Given the description of an element on the screen output the (x, y) to click on. 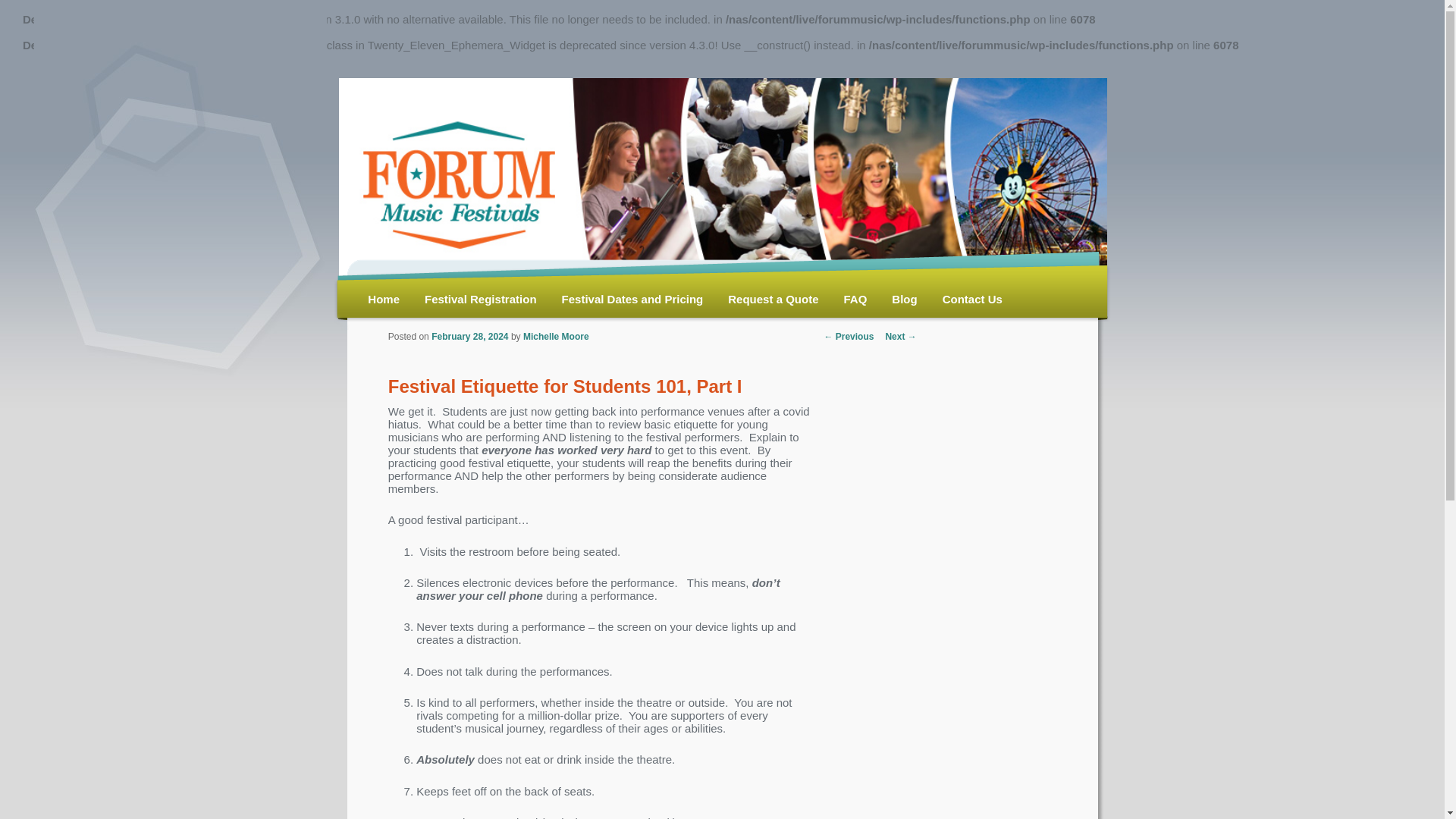
Request a Quote (773, 299)
FAQ (855, 299)
8:21 am (469, 336)
Skip to primary content (435, 269)
Festival Registration (481, 299)
Home (383, 299)
Contact Us (972, 299)
View all posts by Michelle Moore (555, 336)
Festival Dates and Pricing (632, 299)
Forum Music Festivals (456, 177)
